Given the description of an element on the screen output the (x, y) to click on. 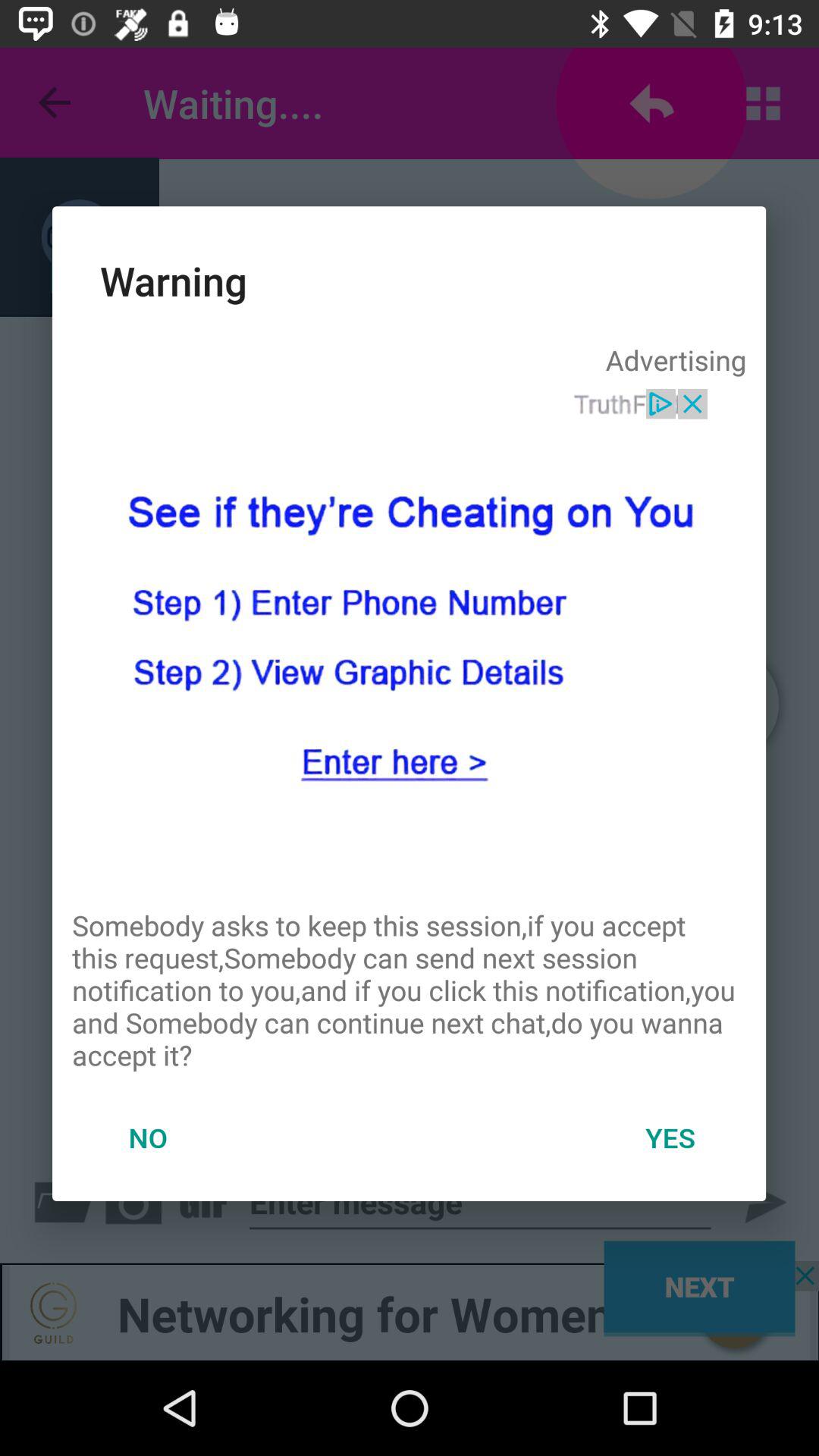
view advertisement (408, 637)
